Given the description of an element on the screen output the (x, y) to click on. 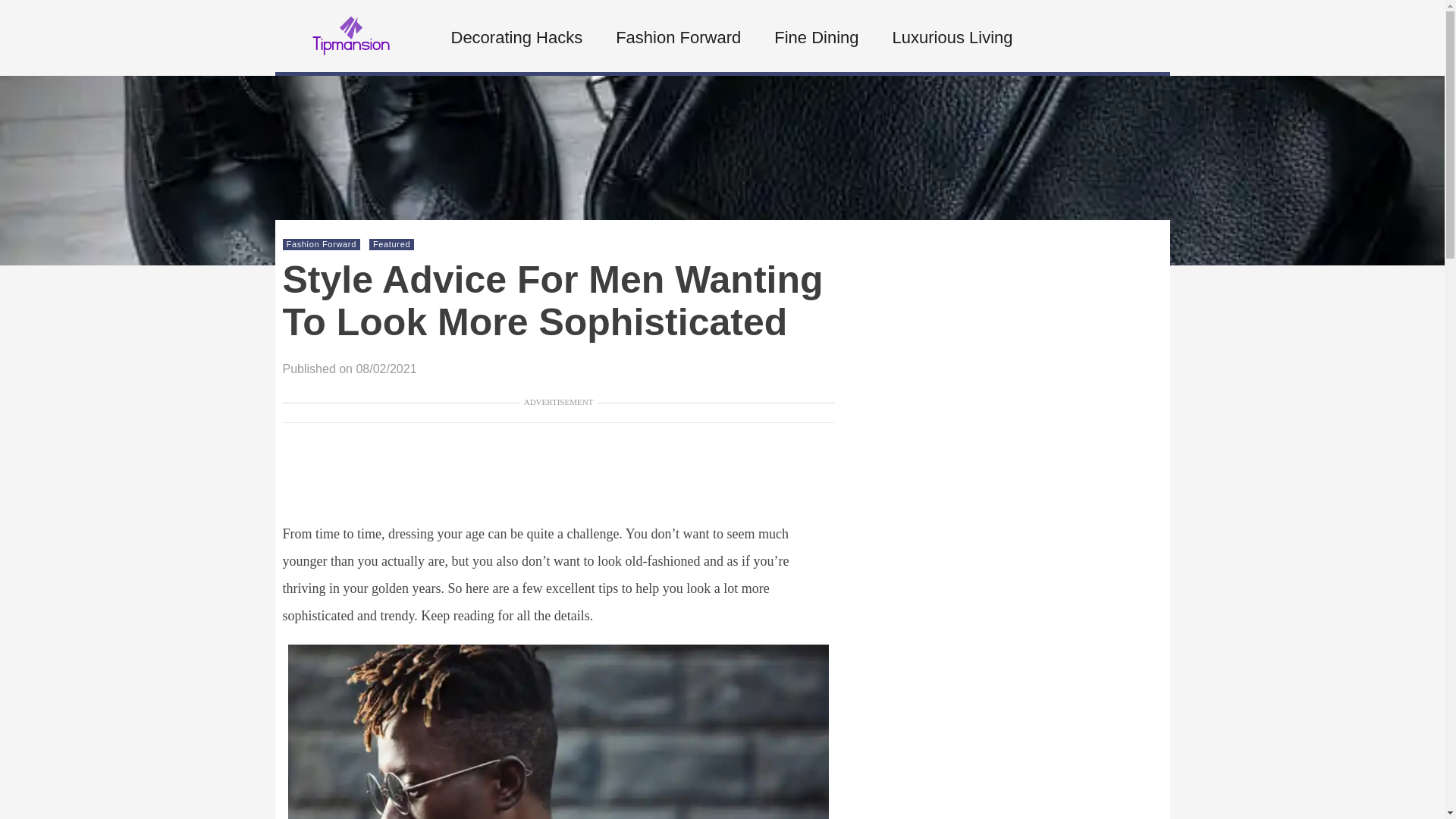
Tipmansion (349, 65)
Fine Dining (814, 37)
Fashion Forward (676, 37)
Fashion Forward (321, 243)
Luxurious Living (950, 37)
Featured (391, 243)
Decorating Hacks (514, 37)
